Given the description of an element on the screen output the (x, y) to click on. 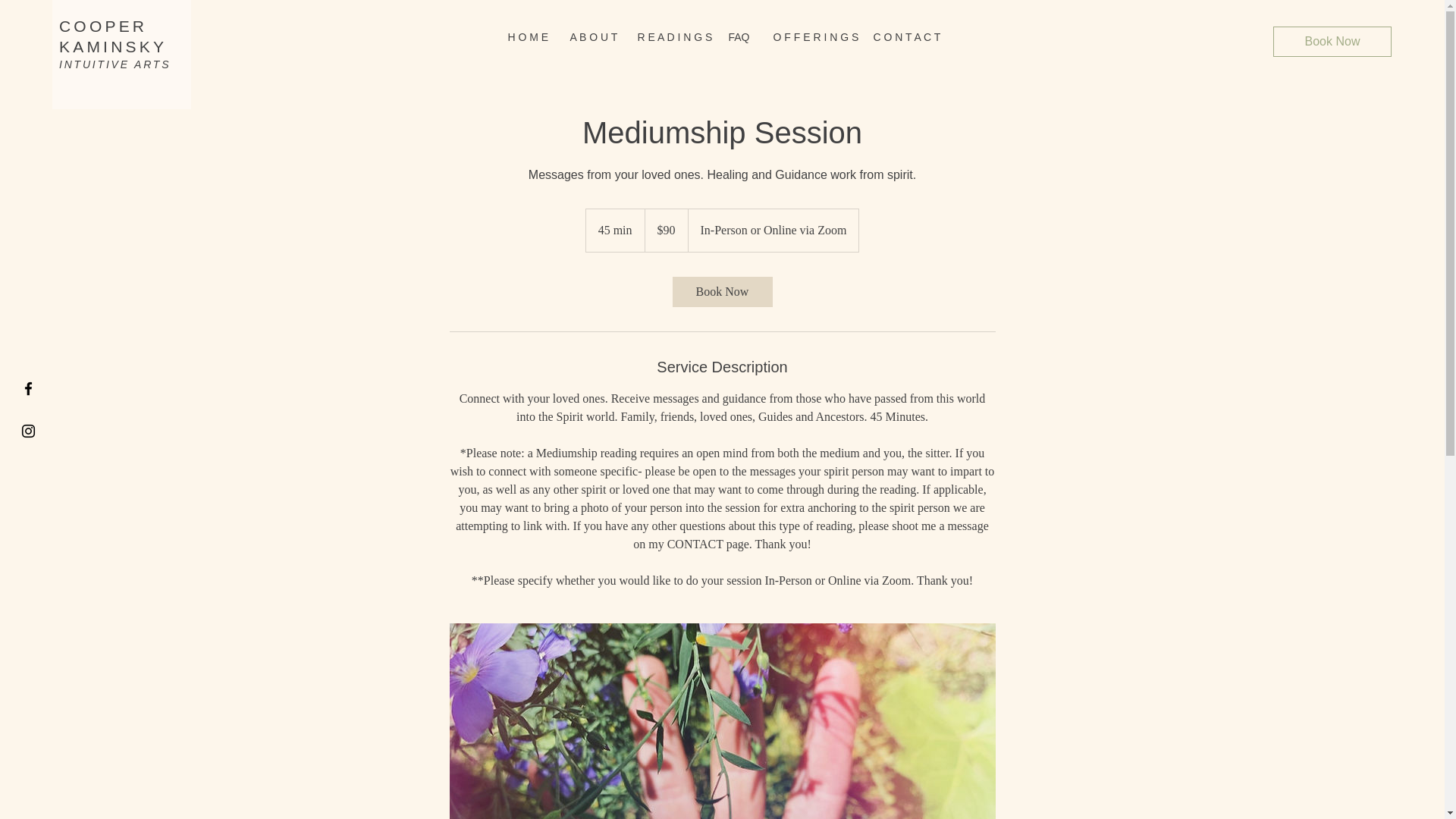
R E A D I N G S (671, 37)
Book Now (1331, 41)
Book Now (721, 291)
H O M E (526, 37)
A B O U T (591, 37)
FAQ (113, 36)
O F F E R I N G S (739, 37)
C O N T A C T (811, 37)
